Given the description of an element on the screen output the (x, y) to click on. 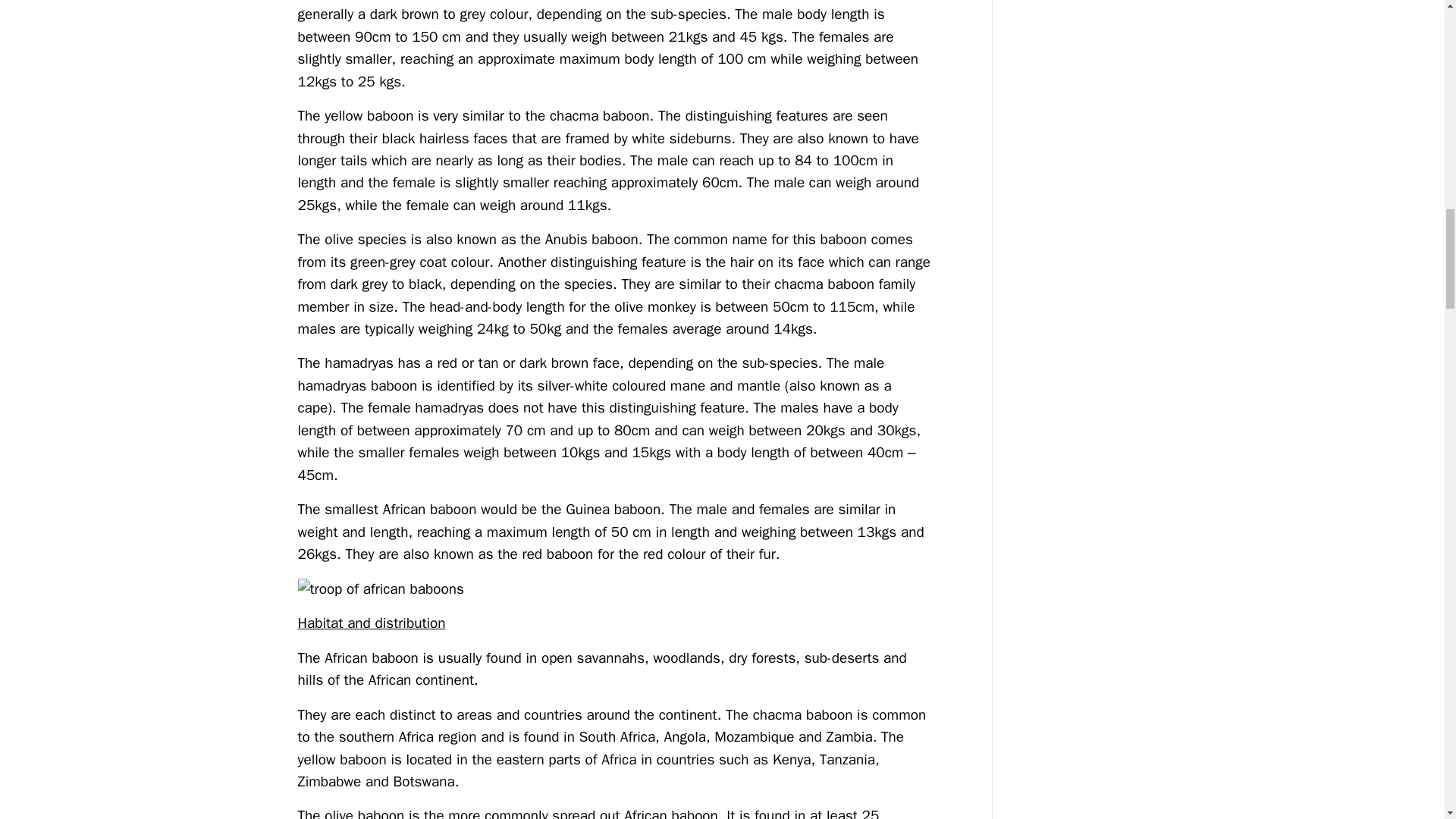
African Baboon 2 (614, 589)
